Given the description of an element on the screen output the (x, y) to click on. 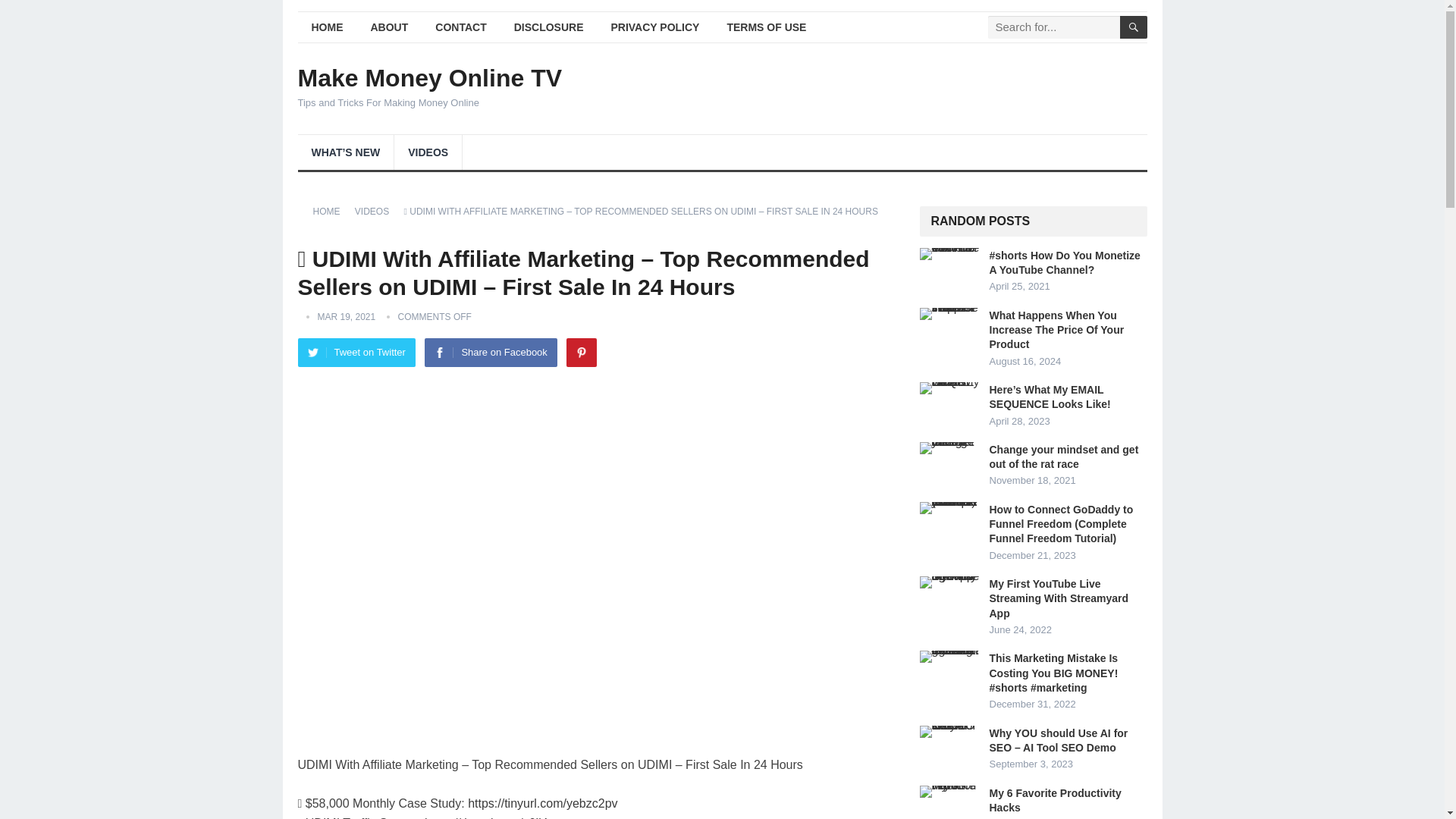
VIDEOS (376, 211)
DISCLOSURE (548, 27)
Share on Facebook (490, 352)
HOME (326, 27)
My First YouTube Live Streaming With Streamyard App 18 (948, 582)
Pinterest (581, 352)
View all posts in Videos (376, 211)
CONTACT (460, 27)
TERMS OF USE (766, 27)
Change your mindset and get out of the rat race 16 (948, 448)
